Given the description of an element on the screen output the (x, y) to click on. 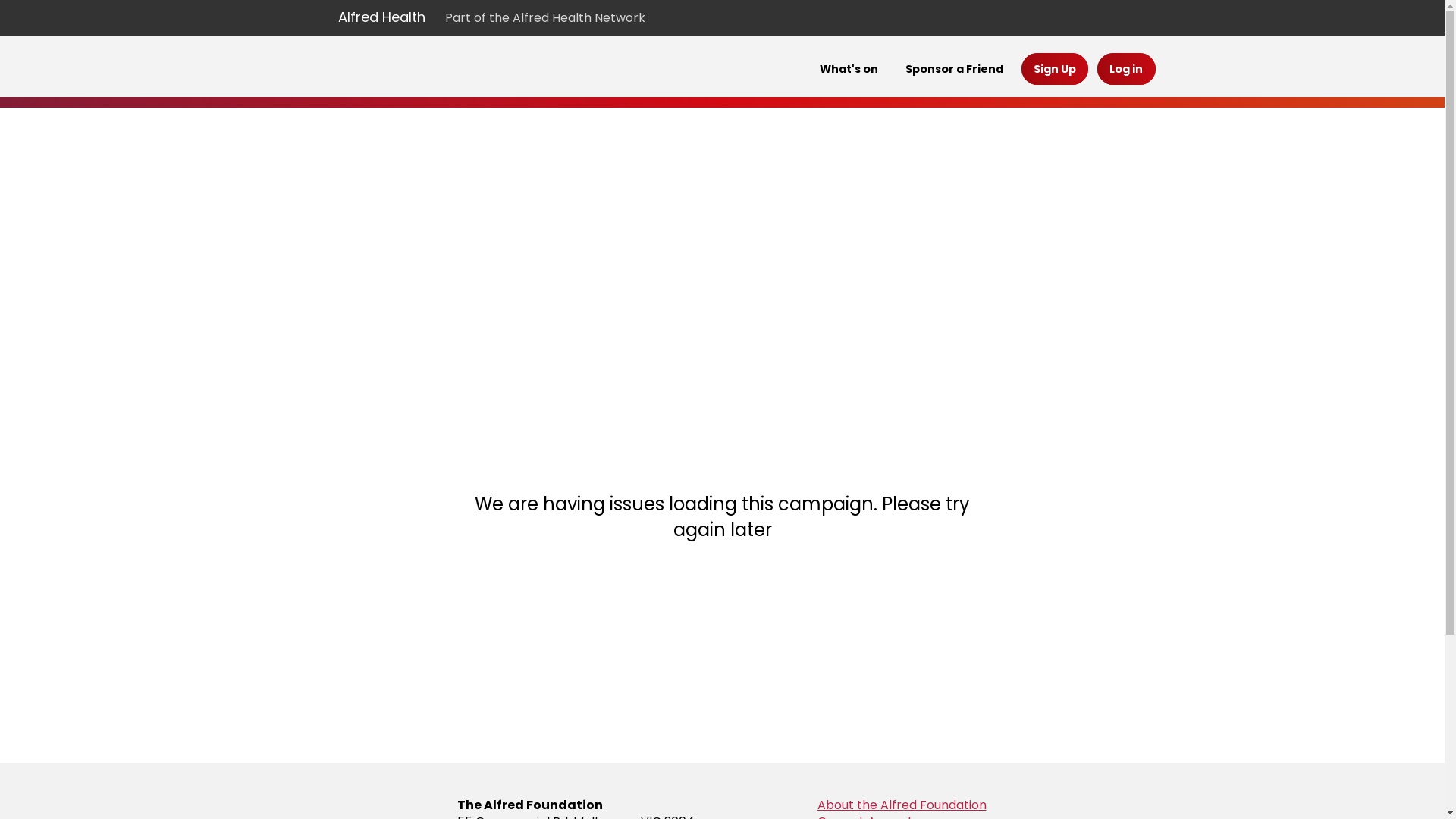
Log in Element type: text (1125, 68)
What's on Element type: text (848, 68)
Sign Up Element type: text (1054, 68)
About the Alfred Foundation Element type: text (901, 804)
Alfred Health Element type: text (381, 16)
Sponsor a Friend Element type: text (954, 68)
